Given the description of an element on the screen output the (x, y) to click on. 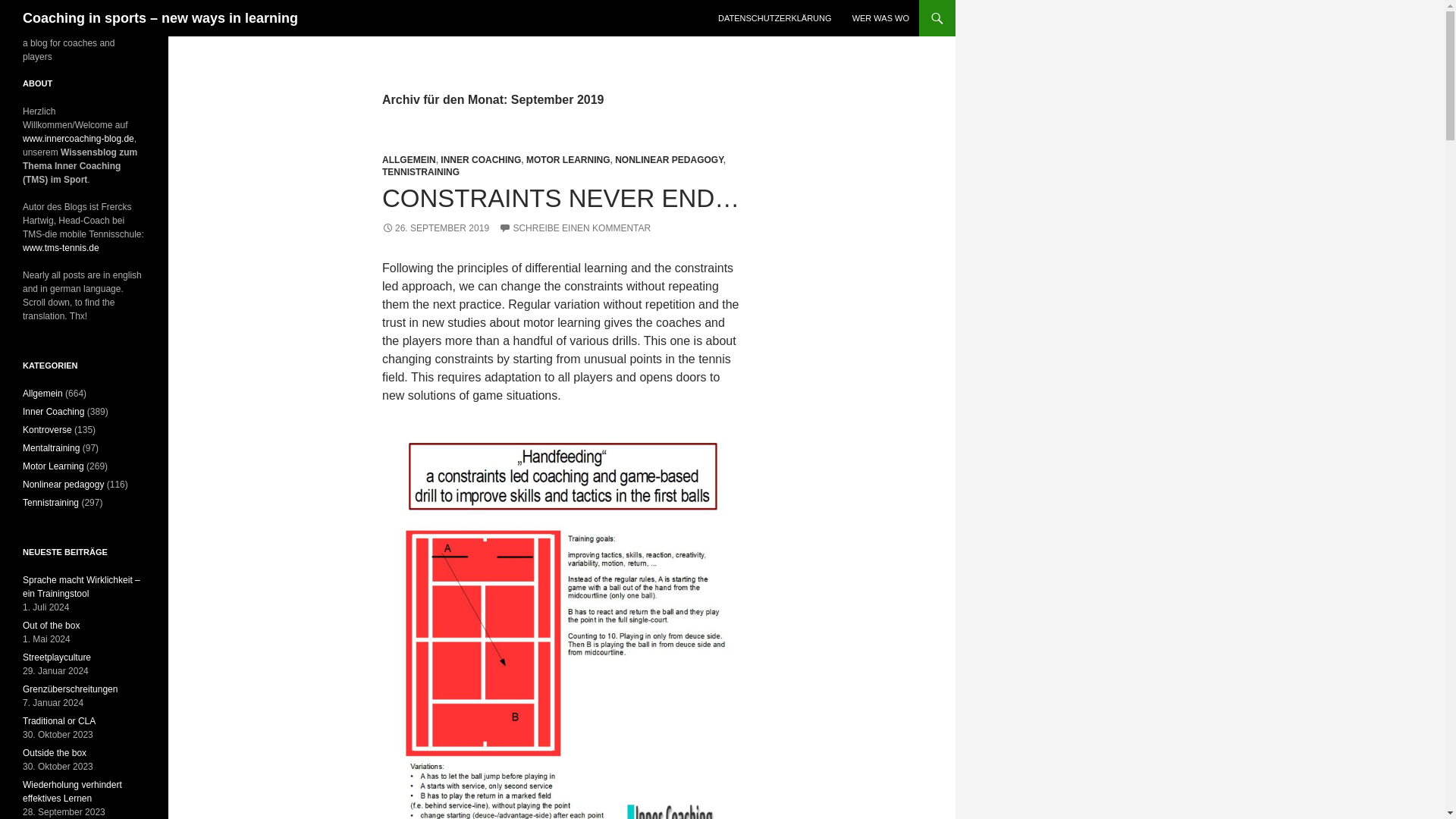
26. SEPTEMBER 2019 (435, 227)
ALLGEMEIN (408, 159)
WER WAS WO (880, 18)
INNER COACHING (481, 159)
NONLINEAR PEDAGOGY (668, 159)
SCHREIBE EINEN KOMMENTAR (574, 227)
TENNISTRAINING (420, 172)
MOTOR LEARNING (567, 159)
